Given the description of an element on the screen output the (x, y) to click on. 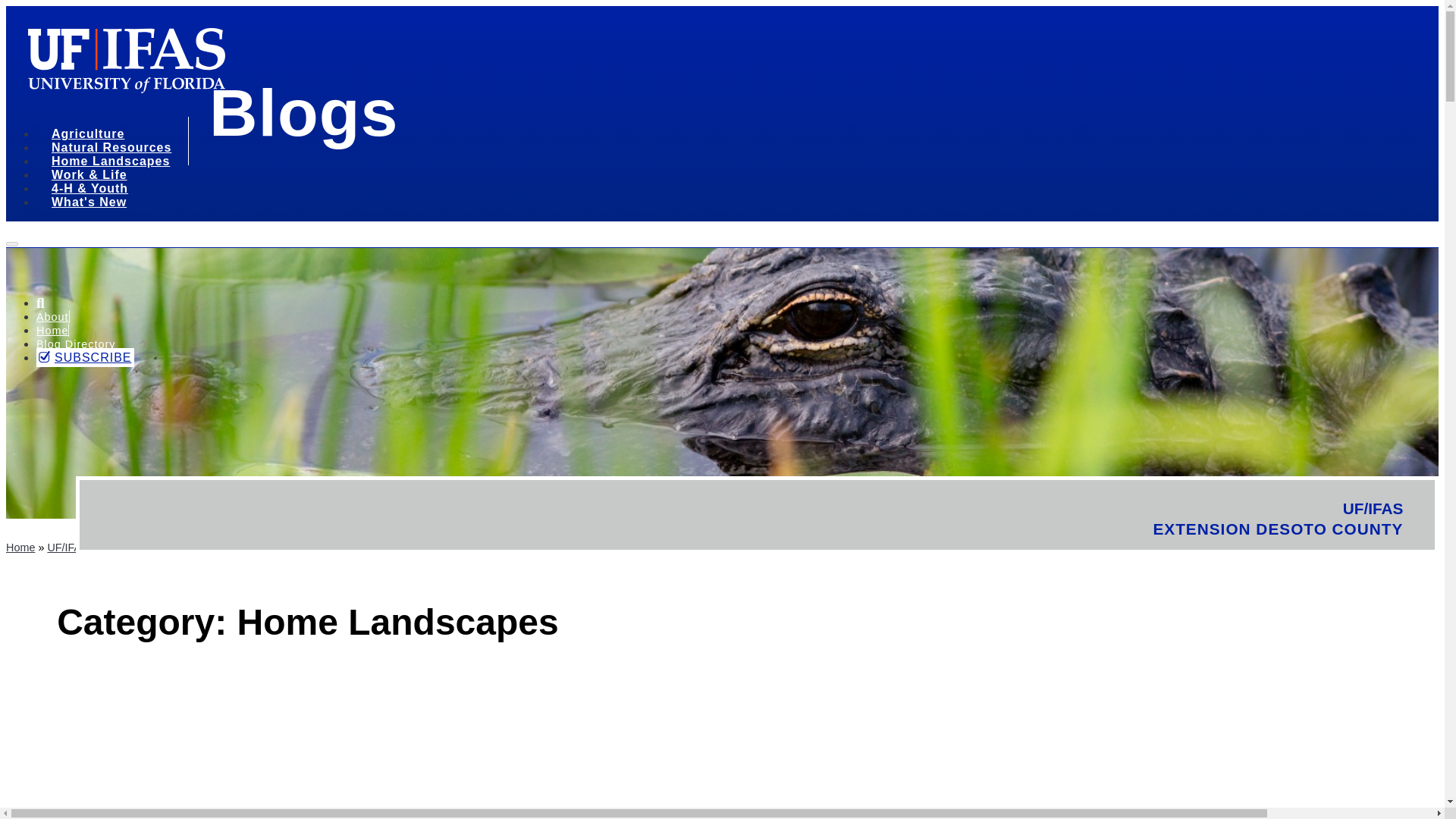
Agriculture (92, 135)
Blogs (303, 112)
SUBSCRIBE (84, 357)
Blog Directory (75, 344)
About (52, 316)
Home (52, 330)
Natural Resources (116, 149)
Home Landscapes (115, 162)
